Given the description of an element on the screen output the (x, y) to click on. 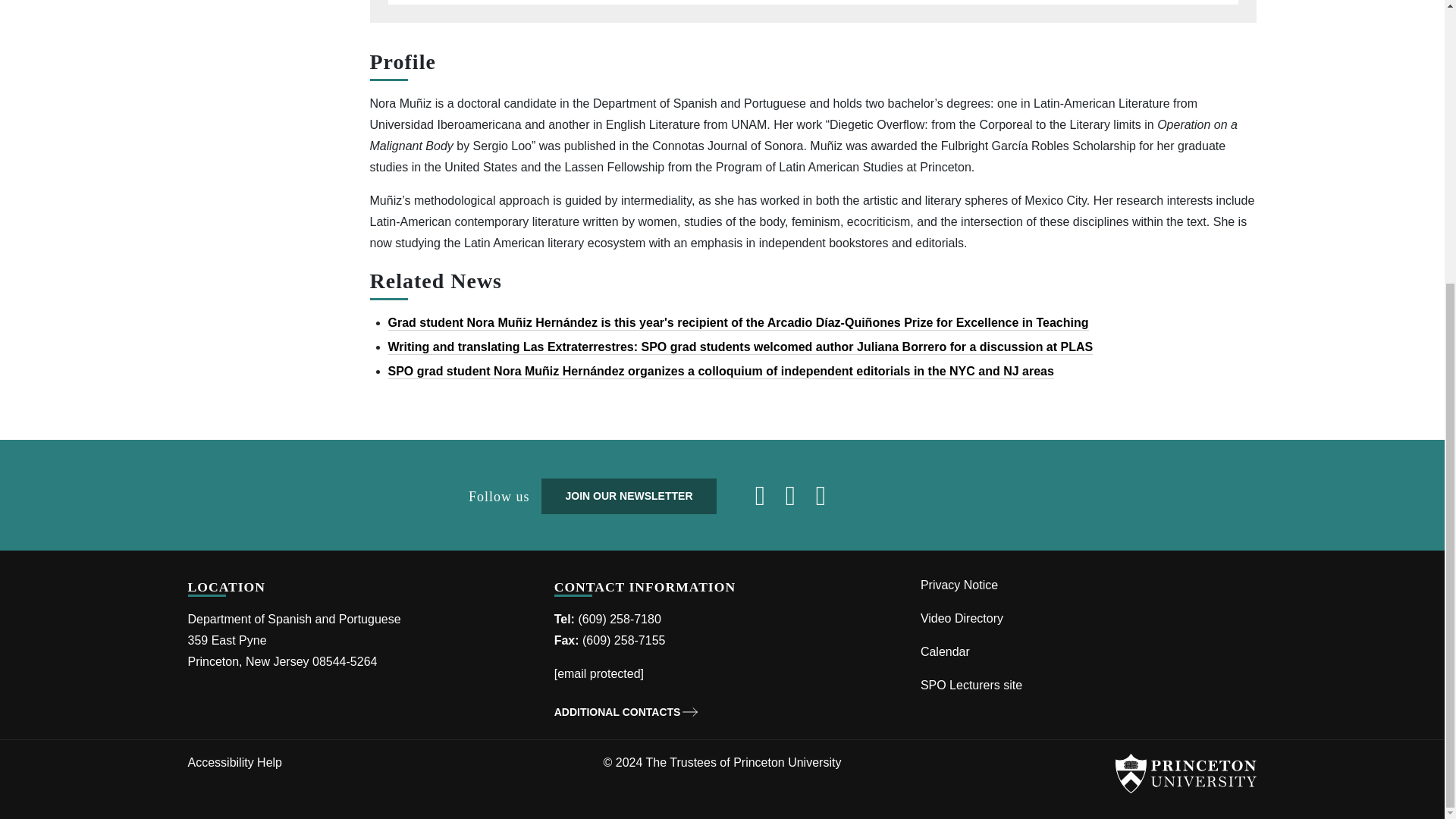
Princeton University (1185, 773)
Like us on Facebook (766, 500)
View our YouTube Playlist (826, 500)
Follow us on Instagram (797, 500)
